Given the description of an element on the screen output the (x, y) to click on. 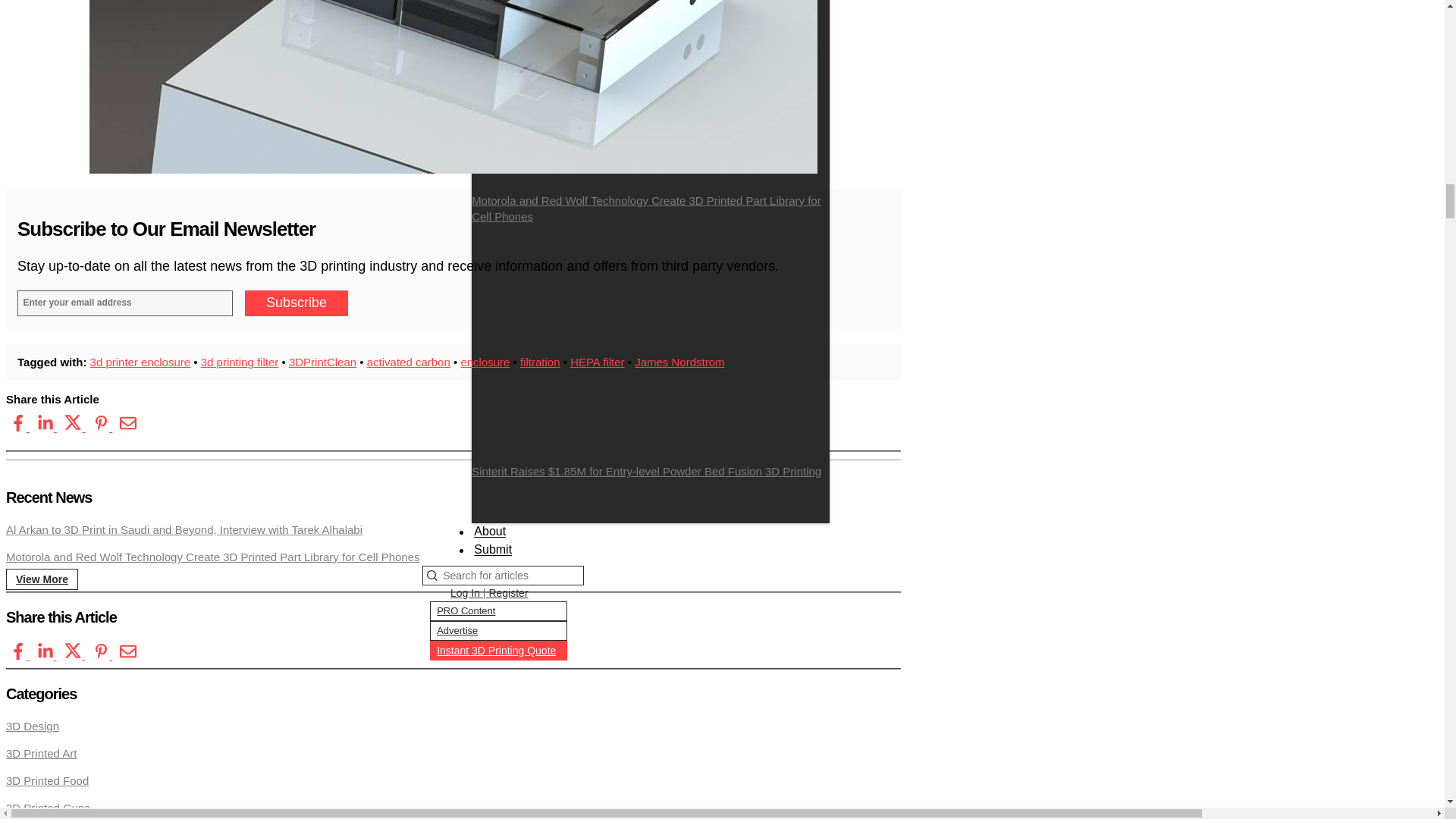
Subscribe (295, 303)
